Given the description of an element on the screen output the (x, y) to click on. 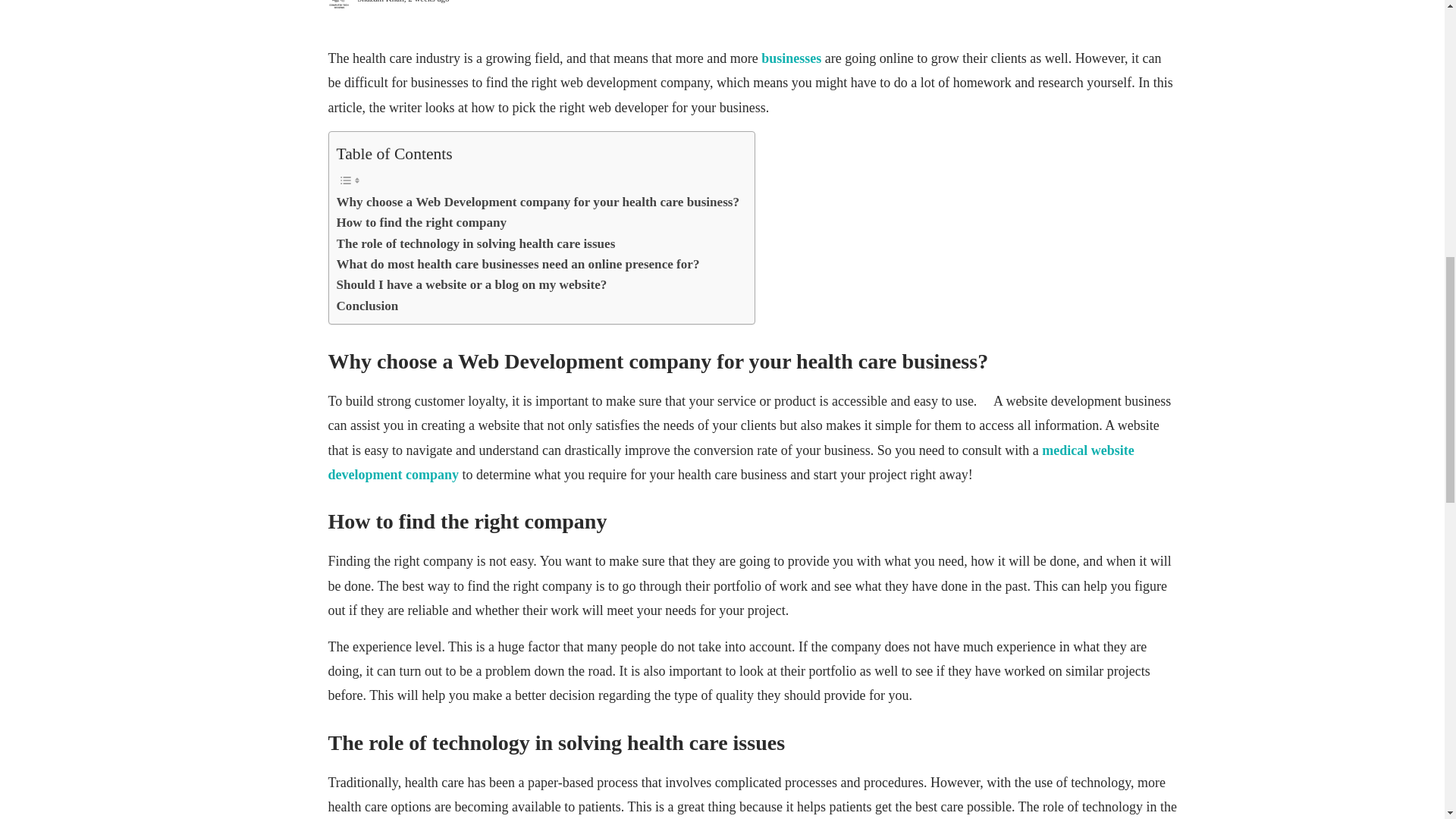
The role of technology in solving health care issues (475, 243)
2 weeks ago (427, 1)
Shazam Khan (379, 1)
Should I have a website or a blog on my website? (471, 284)
How to find the right company (421, 222)
The role of technology in solving health care issues (475, 243)
Conclusion (367, 305)
How to find the right company (421, 222)
